Given the description of an element on the screen output the (x, y) to click on. 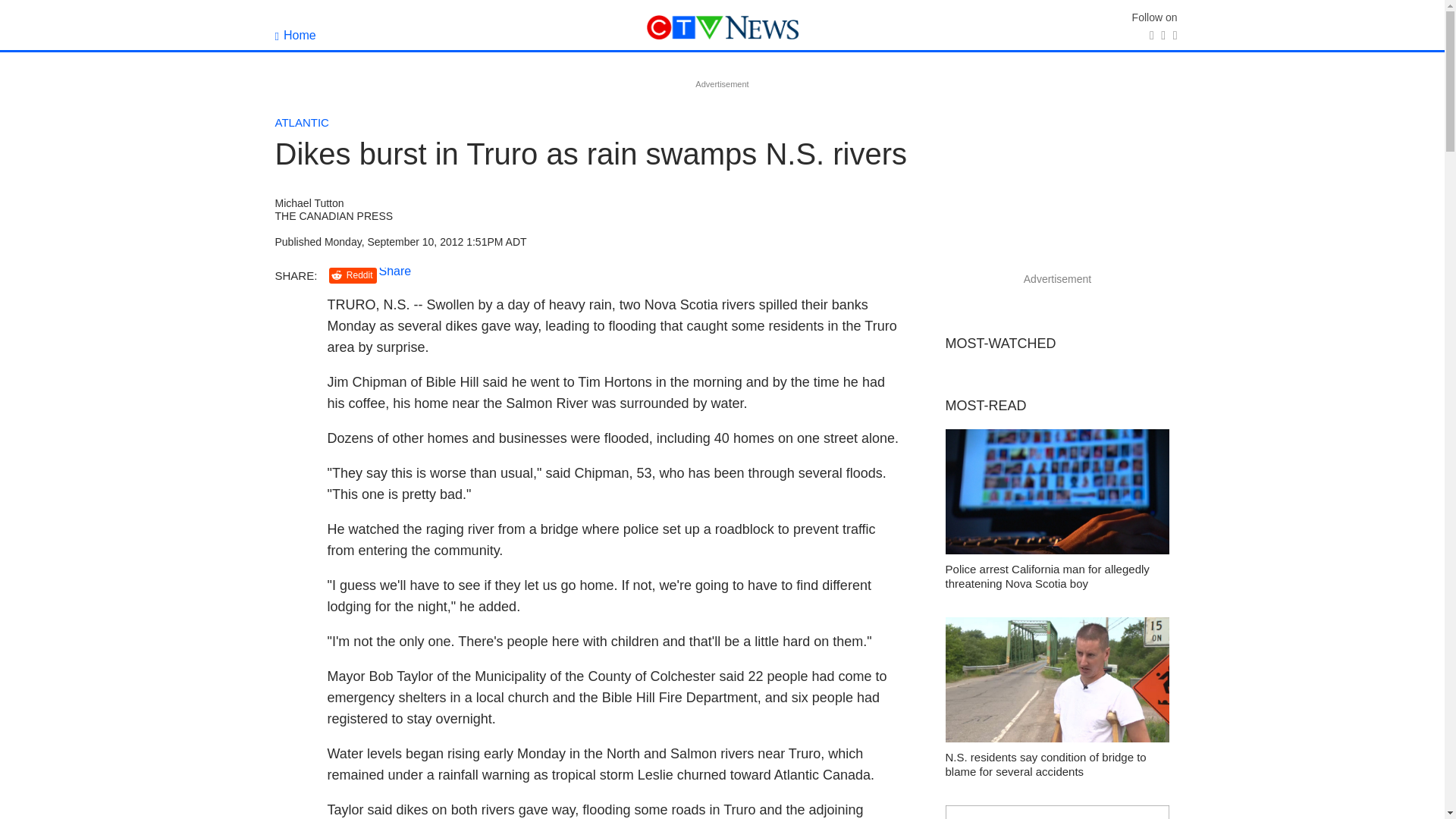
ATLANTIC (302, 122)
Reddit (353, 275)
Share (395, 270)
Home (295, 34)
